Given the description of an element on the screen output the (x, y) to click on. 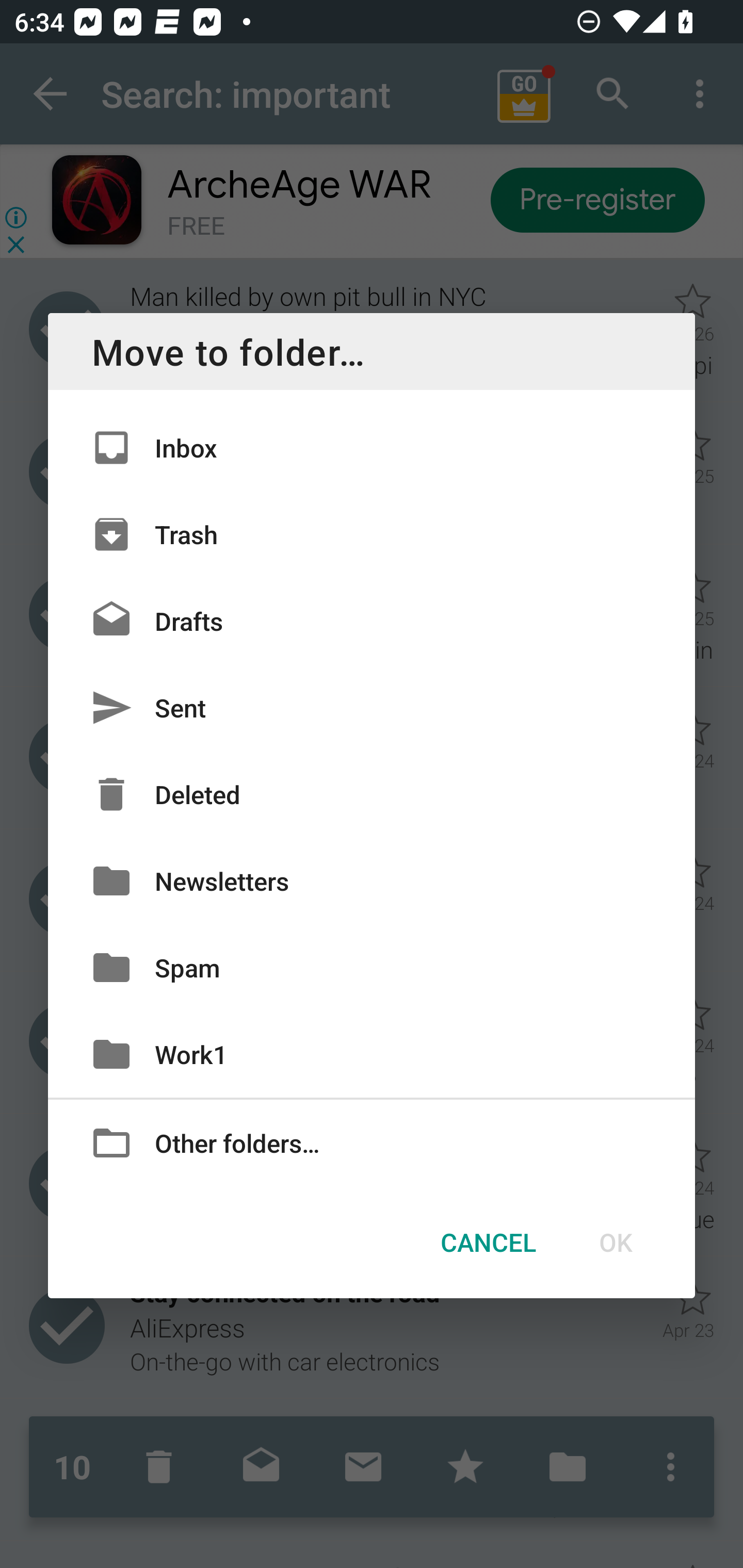
Inbox (371, 447)
Trash (371, 533)
Drafts (371, 620)
Sent (371, 707)
Deleted (371, 794)
Newsletters (371, 880)
Spam (371, 967)
Work1 (371, 1054)
Other folders… (371, 1141)
CANCEL (488, 1241)
OK (615, 1241)
